Given the description of an element on the screen output the (x, y) to click on. 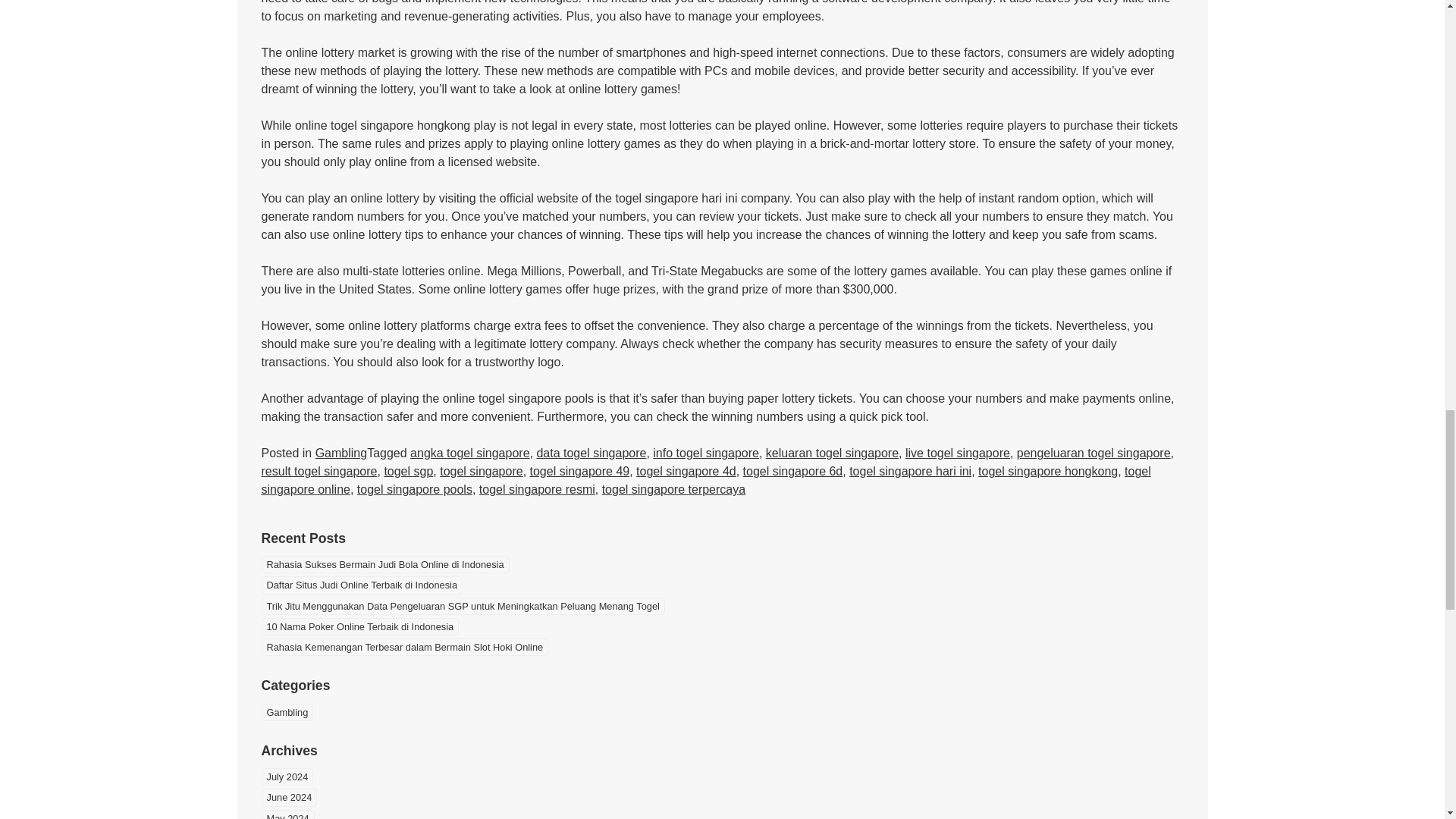
angka togel singapore (469, 452)
pengeluaran togel singapore (1093, 452)
togel singapore (480, 471)
Gambling (340, 452)
togel sgp (408, 471)
result togel singapore (318, 471)
info togel singapore (705, 452)
data togel singapore (590, 452)
live togel singapore (957, 452)
keluaran togel singapore (831, 452)
